Given the description of an element on the screen output the (x, y) to click on. 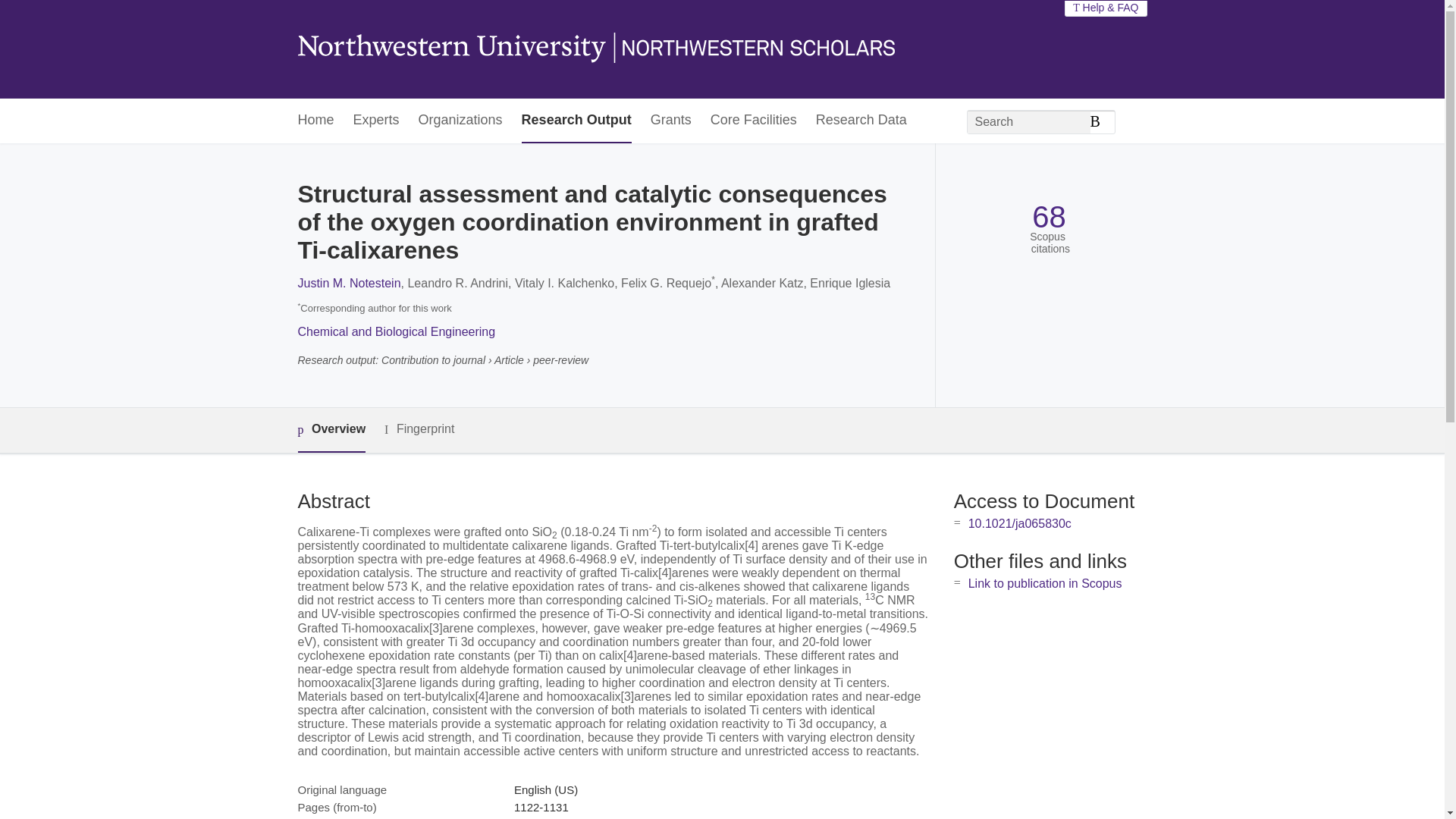
Fingerprint (419, 429)
Research Output (576, 120)
Experts (375, 120)
Chemical and Biological Engineering (396, 331)
Overview (331, 429)
Organizations (460, 120)
Justin M. Notestein (348, 282)
Grants (670, 120)
Link to publication in Scopus (1045, 583)
Northwestern Scholars Home (595, 49)
Research Data (861, 120)
Core Facilities (753, 120)
68 (1048, 216)
Home (315, 120)
